Given the description of an element on the screen output the (x, y) to click on. 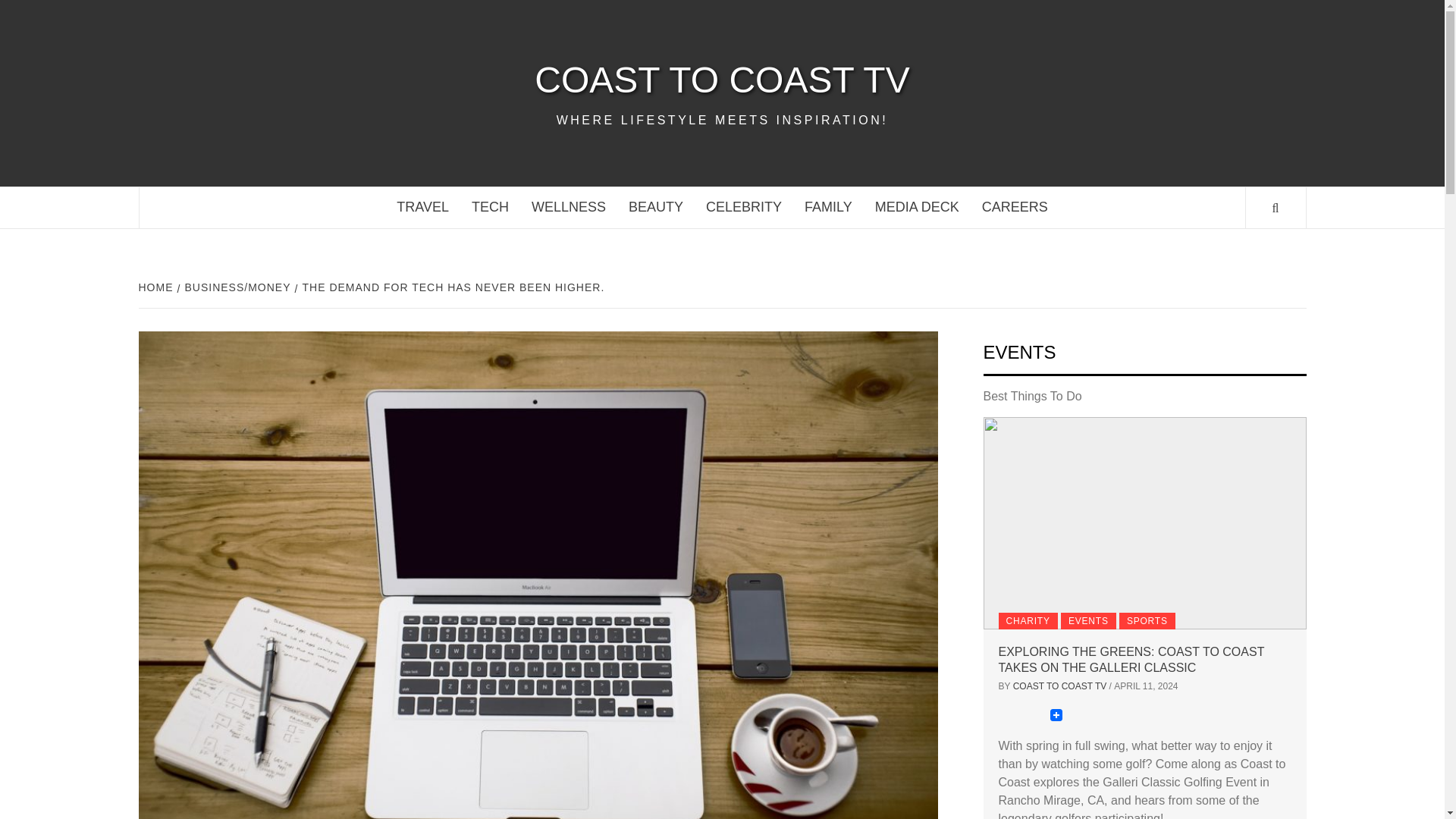
CAREERS (1015, 207)
HOME (157, 287)
WELLNESS (568, 207)
MEDIA DECK (917, 207)
TRAVEL (422, 207)
FAMILY (828, 207)
COAST TO COAST TV (721, 80)
THE DEMAND FOR TECH HAS NEVER BEEN HIGHER. (451, 287)
CELEBRITY (743, 207)
TECH (489, 207)
